Given the description of an element on the screen output the (x, y) to click on. 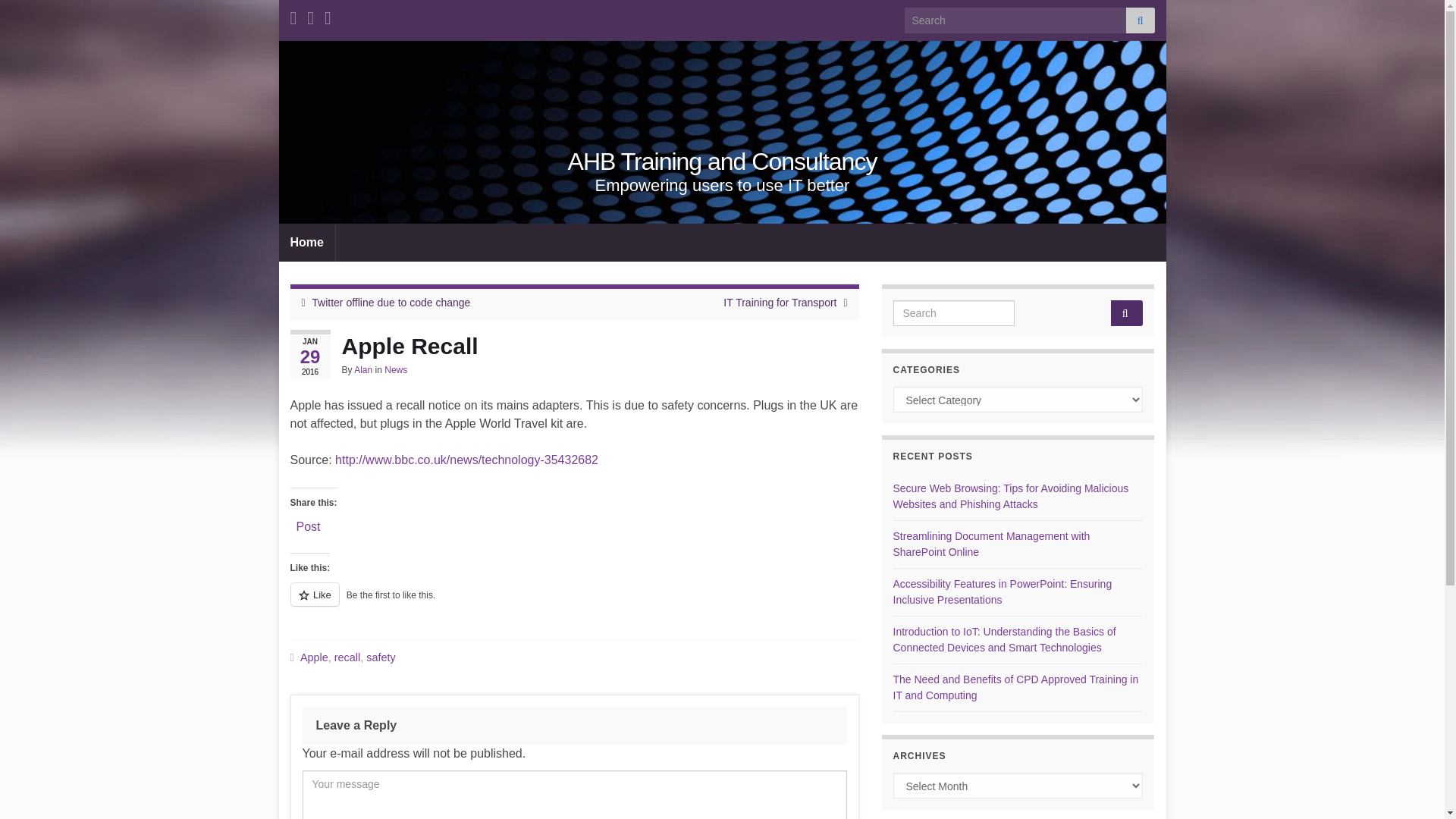
AHB Training and Consultancy (722, 161)
Like or Reblog (574, 603)
Streamlining Document Management with SharePoint Online (991, 543)
Go back to the front page (722, 161)
Apple (314, 657)
Post (307, 524)
safety (380, 657)
